Given the description of an element on the screen output the (x, y) to click on. 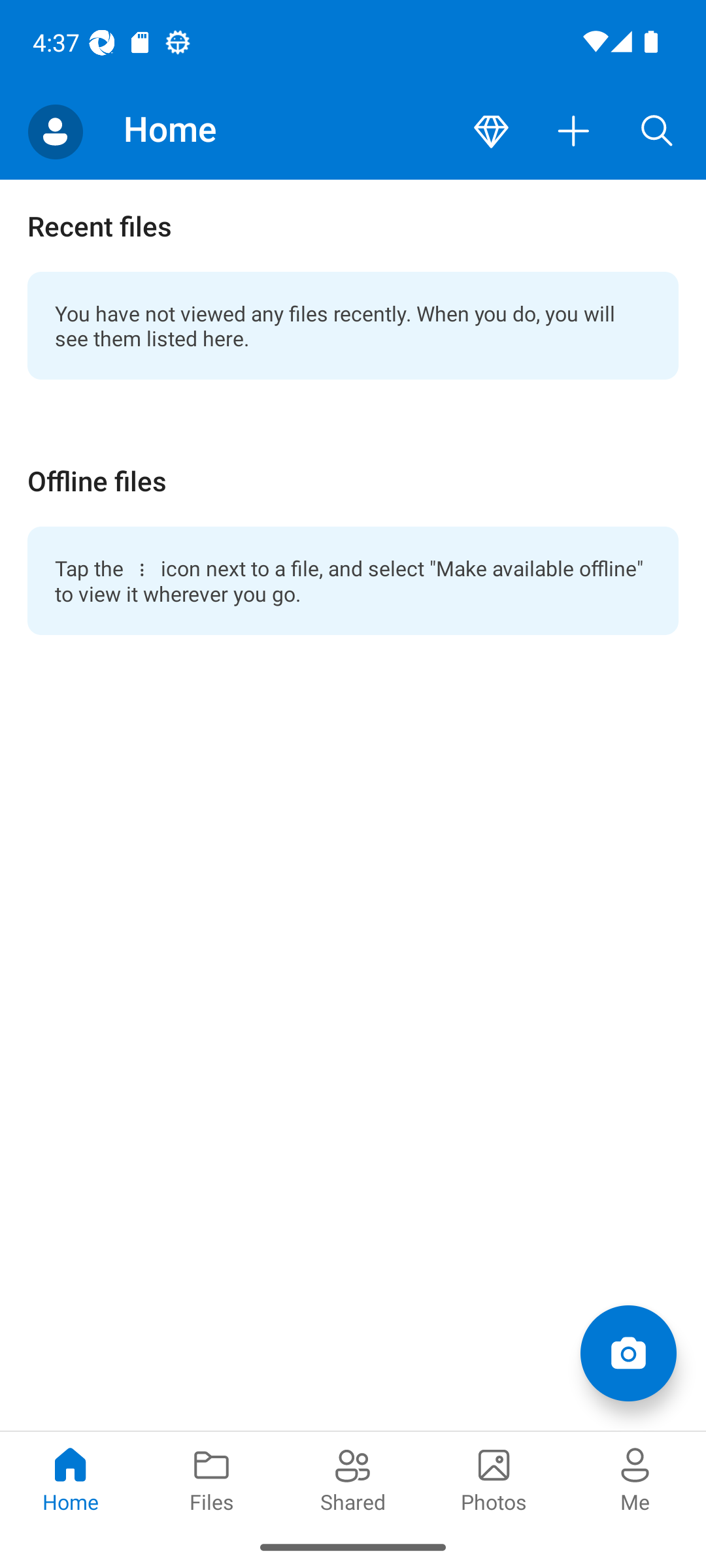
Account switcher (55, 131)
Premium button (491, 131)
More actions button (574, 131)
Search button (656, 131)
Scan (628, 1352)
Files pivot Files (211, 1478)
Shared pivot Shared (352, 1478)
Photos pivot Photos (493, 1478)
Me pivot Me (635, 1478)
